Given the description of an element on the screen output the (x, y) to click on. 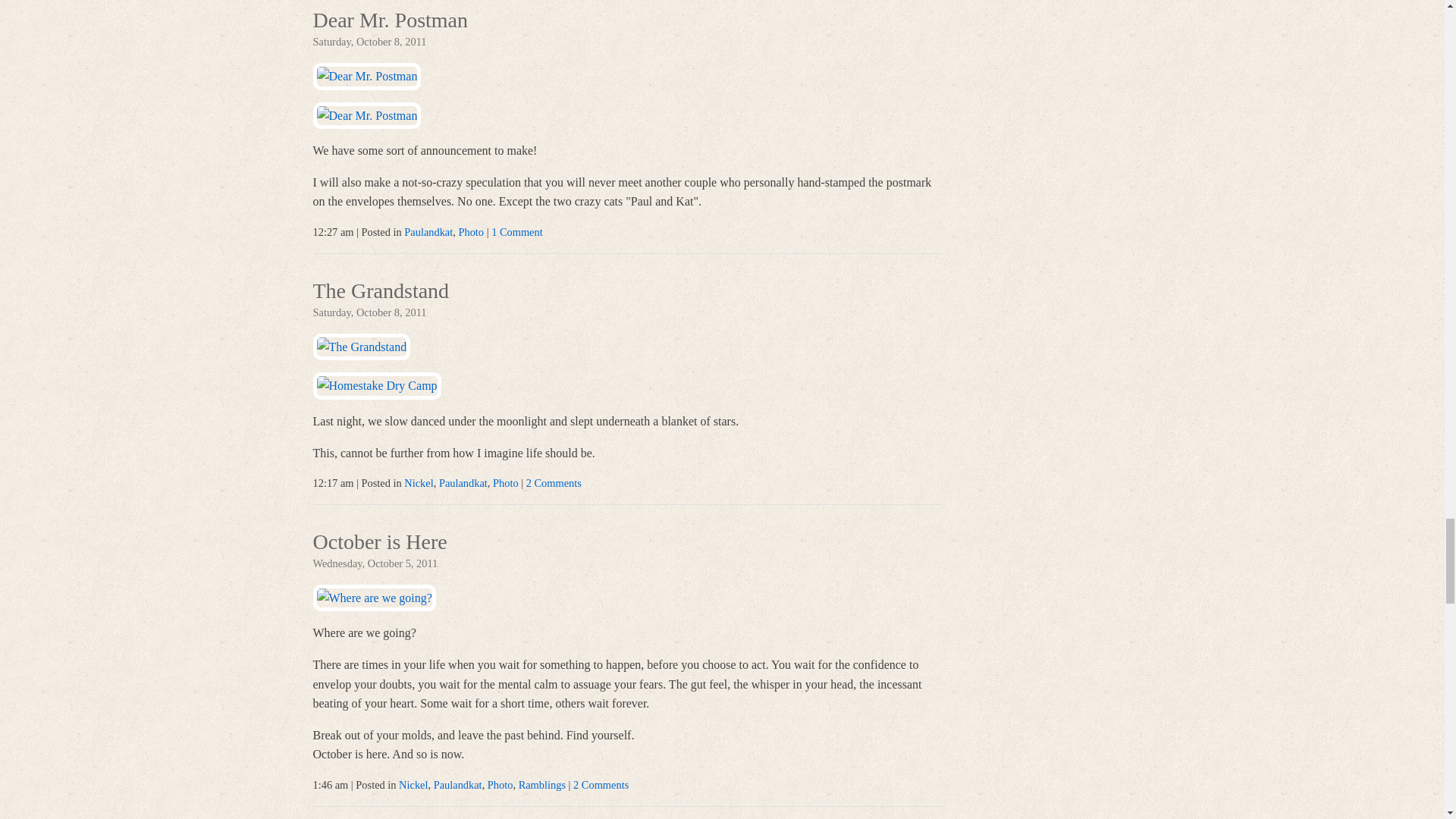
Dear Mr. Postman by lovine, on Flickr (366, 75)
Dear Mr. Postman by lovine, on Flickr (366, 115)
The Grandstand by lovine, on Flickr (361, 346)
Where are we going? by lovine, on Flickr (374, 597)
Homestake Dry Camp by lovine, on Flickr (377, 385)
